Given the description of an element on the screen output the (x, y) to click on. 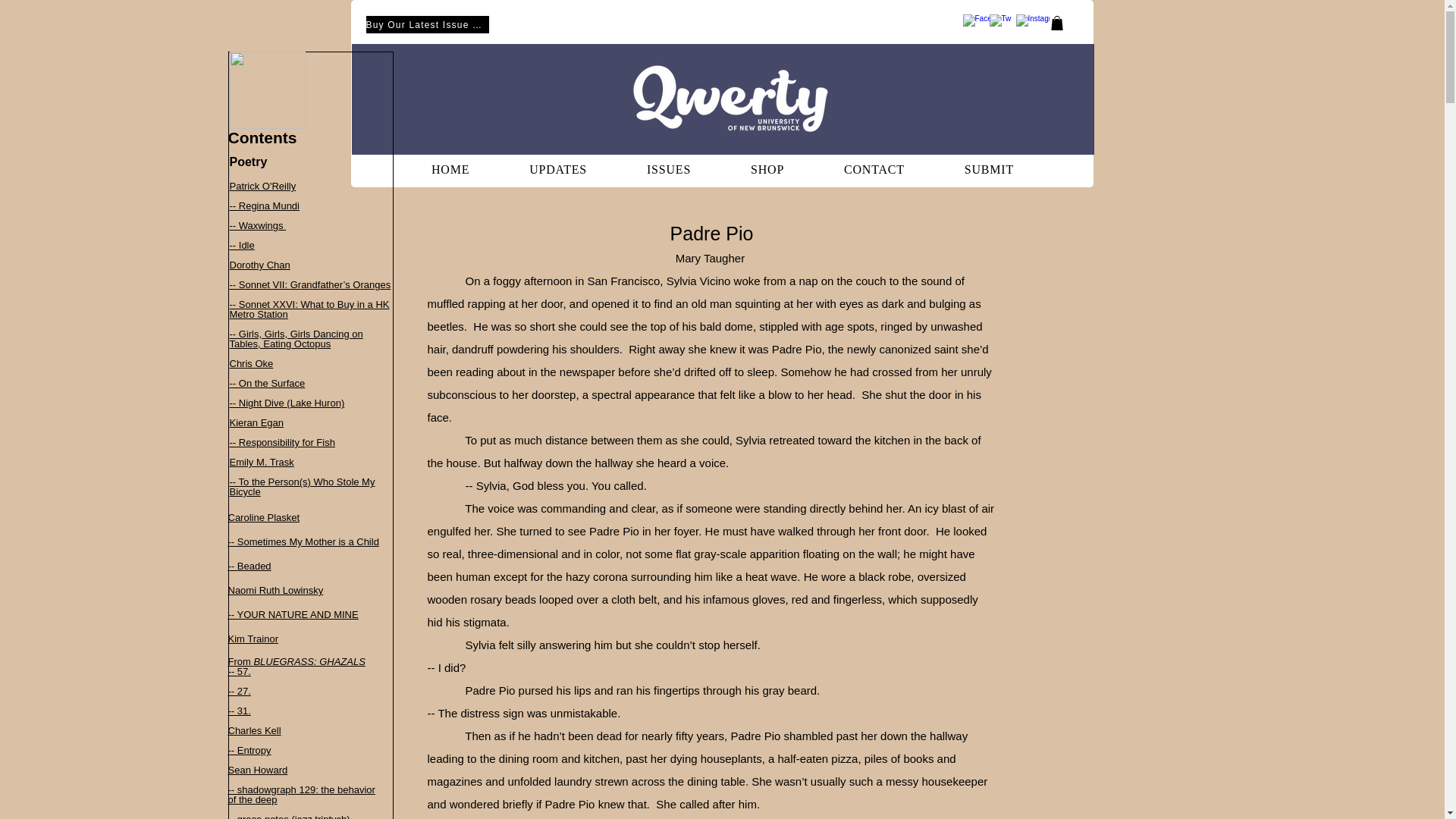
Naomi Ruth Lowinsky (275, 589)
From BLUEGRASS: GHAZALS (296, 661)
-- Entropy (248, 749)
-- Waxwings  (256, 225)
-- Idle (240, 244)
Kieran Egan (255, 422)
Caroline Plasket (263, 516)
-- Responsibility for Fish (281, 441)
Chris Oke (250, 363)
Buy Our Latest Issue Here (426, 24)
